Given the description of an element on the screen output the (x, y) to click on. 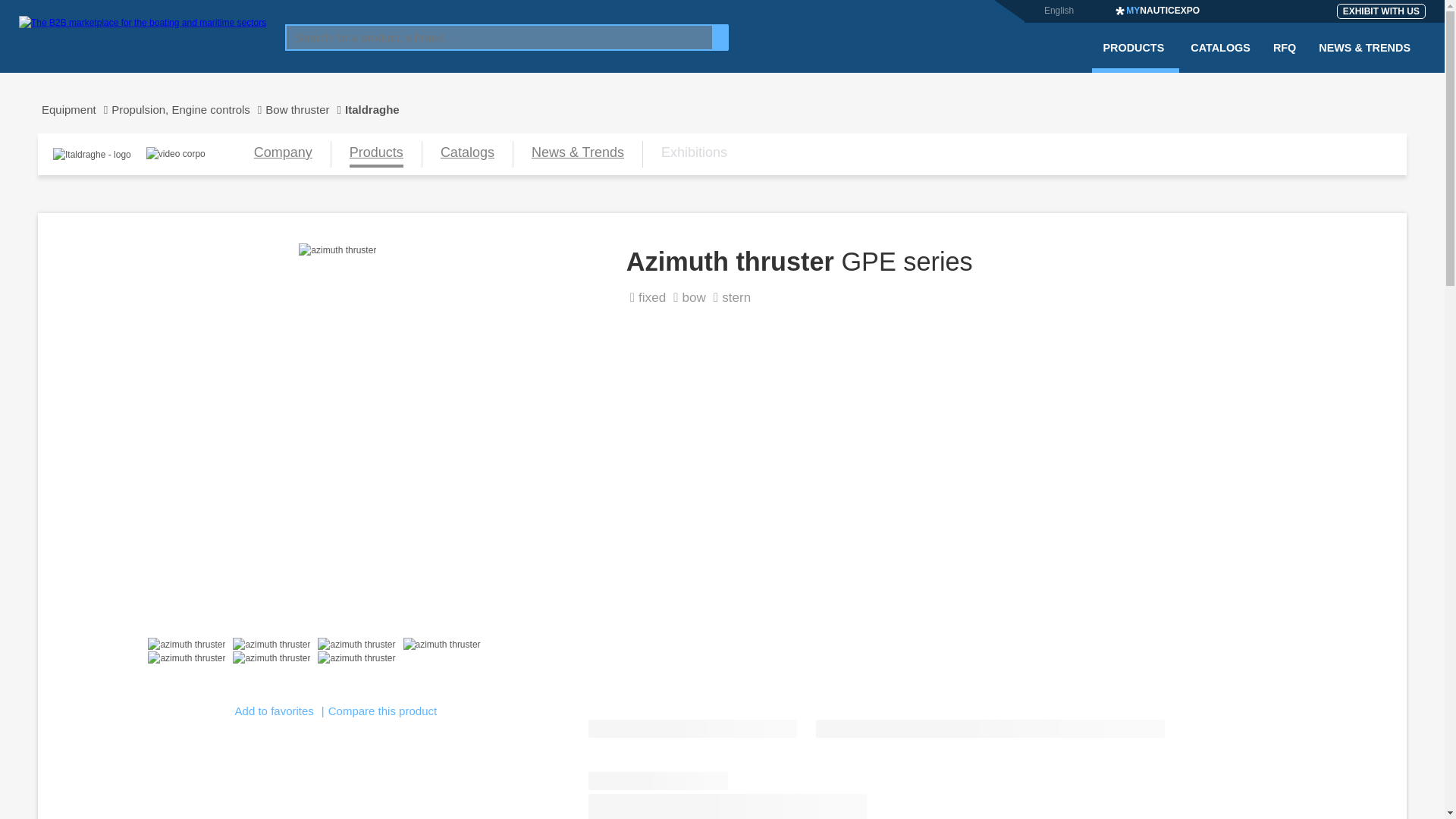
PRODUCTS (1135, 56)
Products (376, 153)
Equipment (74, 109)
Propulsion, Engine controls (188, 109)
Company (283, 153)
English (1058, 9)
EXHIBIT WITH US (1380, 11)
Catalogs (468, 153)
CATALOGS (1220, 56)
RFQ (1284, 56)
